Given the description of an element on the screen output the (x, y) to click on. 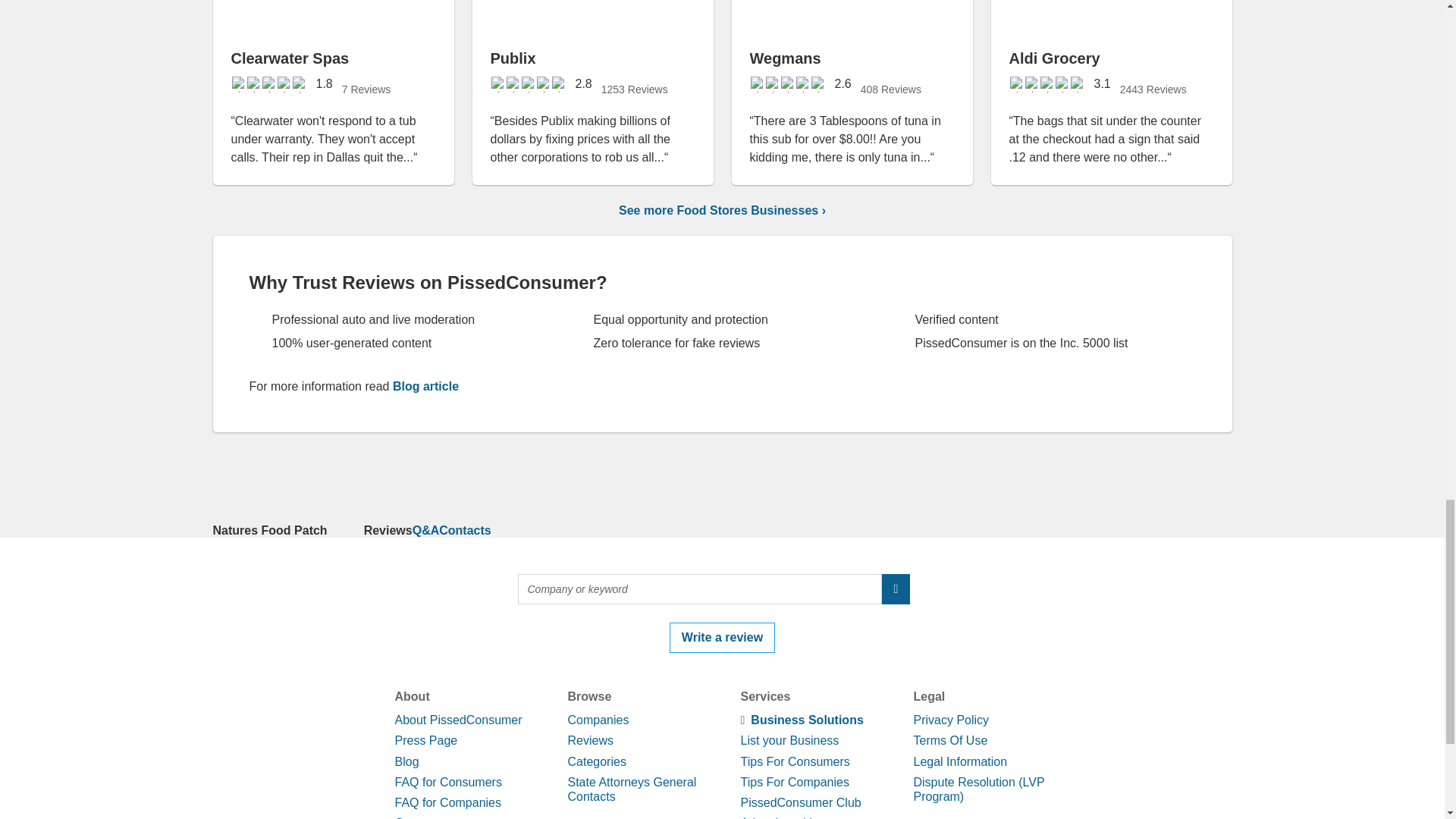
About PissedConsumer (457, 719)
Tips For Consumers (793, 761)
Press Page (425, 739)
Advertise with us (785, 817)
FAQ for Companies (447, 802)
PissedConsumer Club (799, 802)
Tips For Companies (793, 781)
State Attorneys General Contacts (631, 789)
FAQ for Consumers (447, 781)
Blog (406, 761)
